Given the description of an element on the screen output the (x, y) to click on. 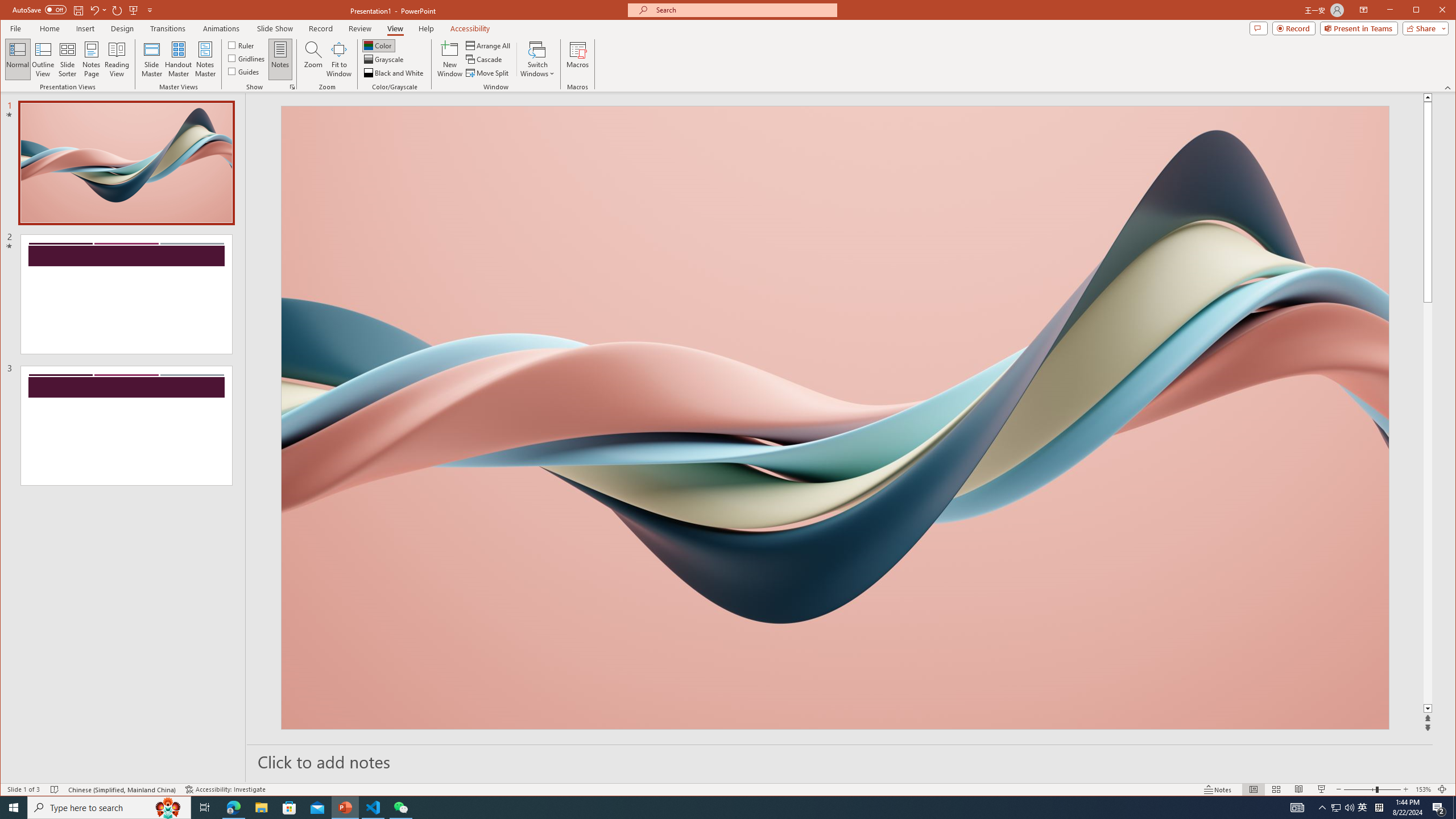
Gridlines (246, 57)
